Given the description of an element on the screen output the (x, y) to click on. 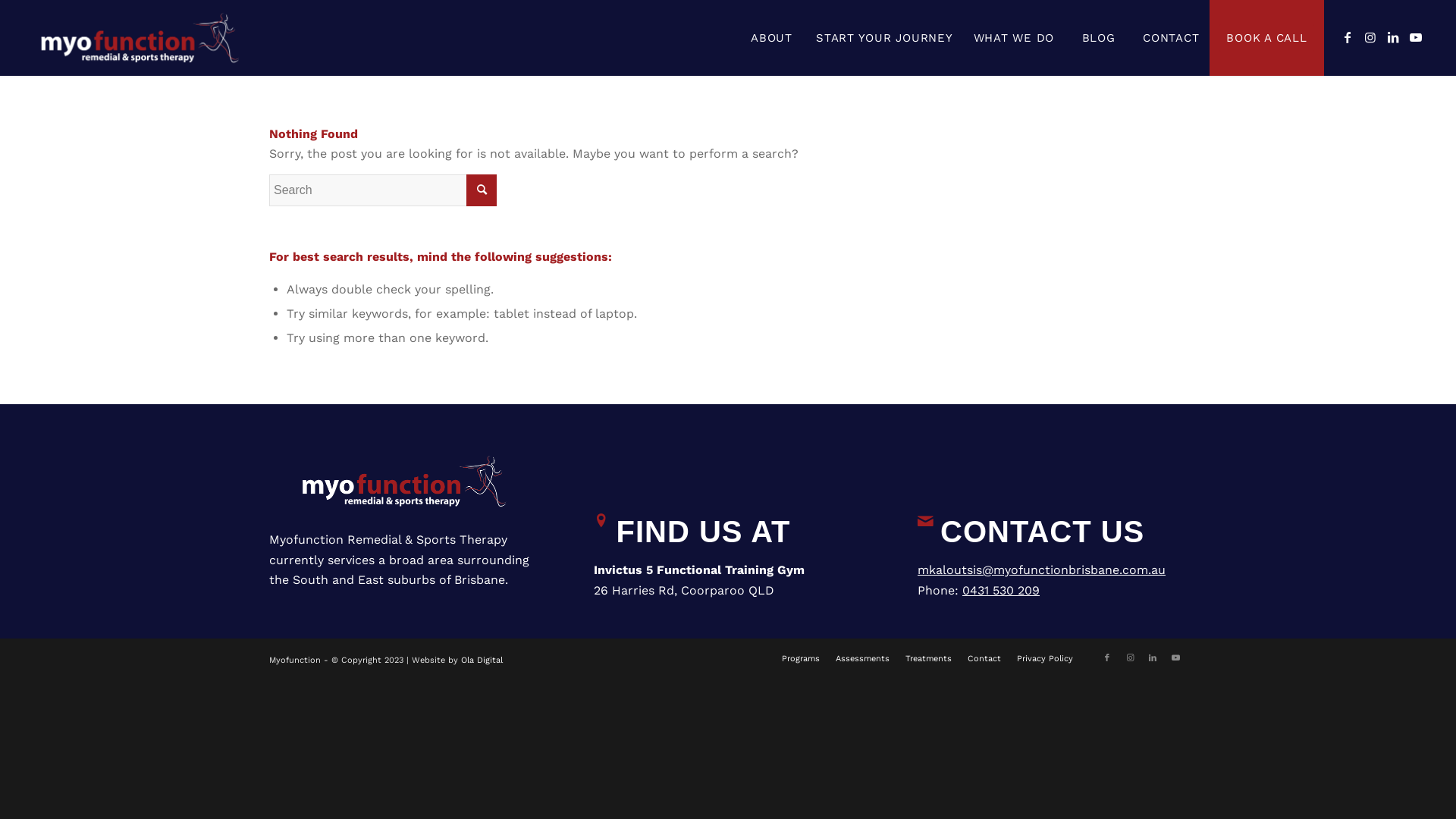
LinkedIn Element type: hover (1392, 36)
Facebook Element type: hover (1347, 36)
Myofunction-Web-Logo Element type: hover (403, 481)
mkaloutsis@myofunctionbrisbane.com.au Element type: text (1041, 569)
Youtube Element type: hover (1175, 657)
Instagram Element type: hover (1129, 657)
BLOG Element type: text (1097, 37)
Youtube Element type: hover (1415, 36)
Facebook Element type: hover (1106, 657)
Myofunction-Web-Logo Element type: hover (138, 37)
Contact Element type: text (984, 658)
WHAT WE DO Element type: text (1013, 37)
BOOK A CALL Element type: text (1265, 37)
ABOUT Element type: text (771, 37)
Instagram Element type: hover (1369, 36)
Treatments Element type: text (928, 658)
CONTACT Element type: text (1170, 37)
Privacy Policy Element type: text (1044, 658)
Assessments Element type: text (862, 658)
START YOUR JOURNEY Element type: text (884, 37)
Programs Element type: text (800, 658)
0431 530 209 Element type: text (1000, 590)
LinkedIn Element type: hover (1152, 657)
Ola Digital Element type: text (481, 660)
